Given the description of an element on the screen output the (x, y) to click on. 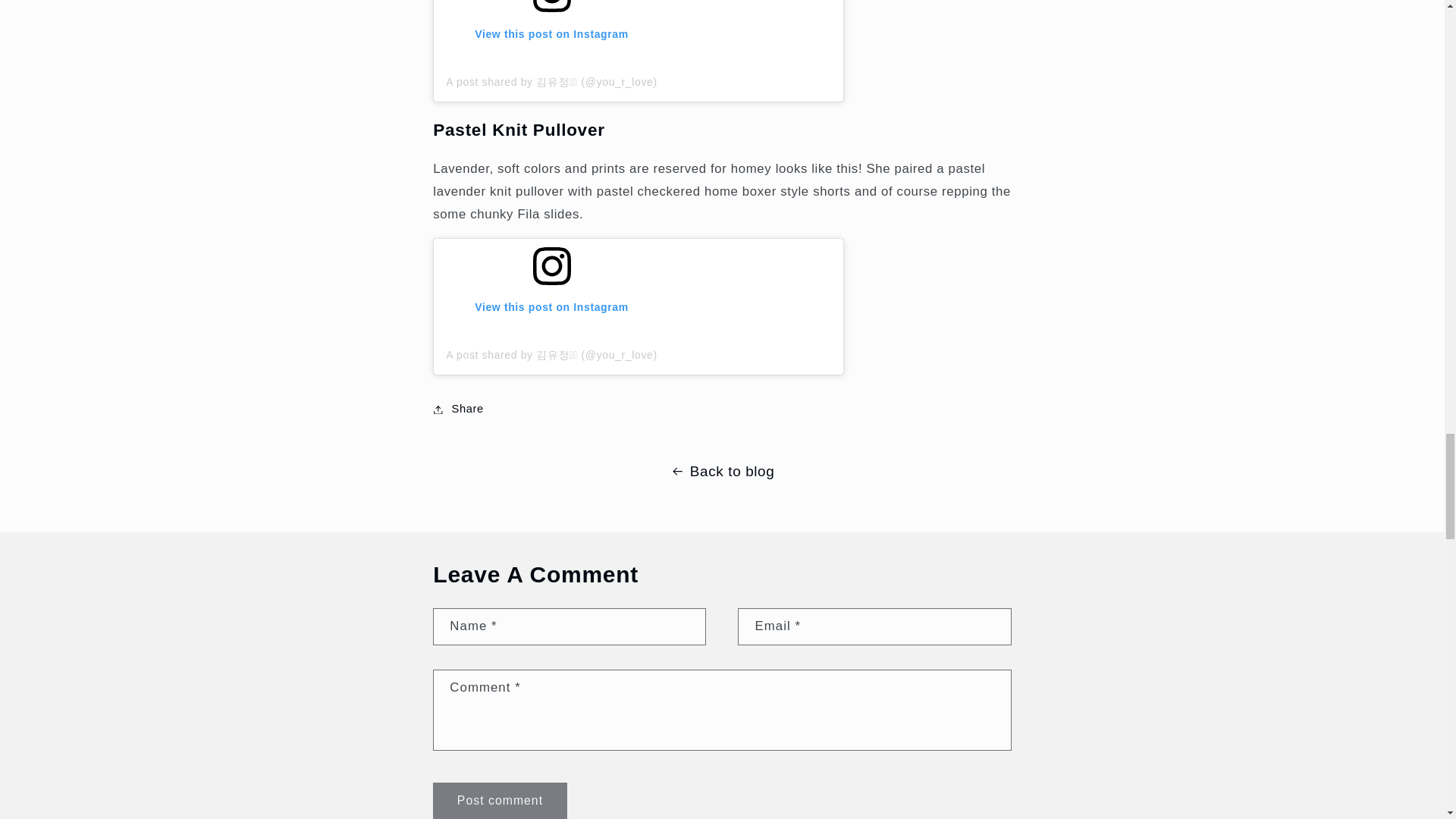
Post comment (499, 800)
